Given the description of an element on the screen output the (x, y) to click on. 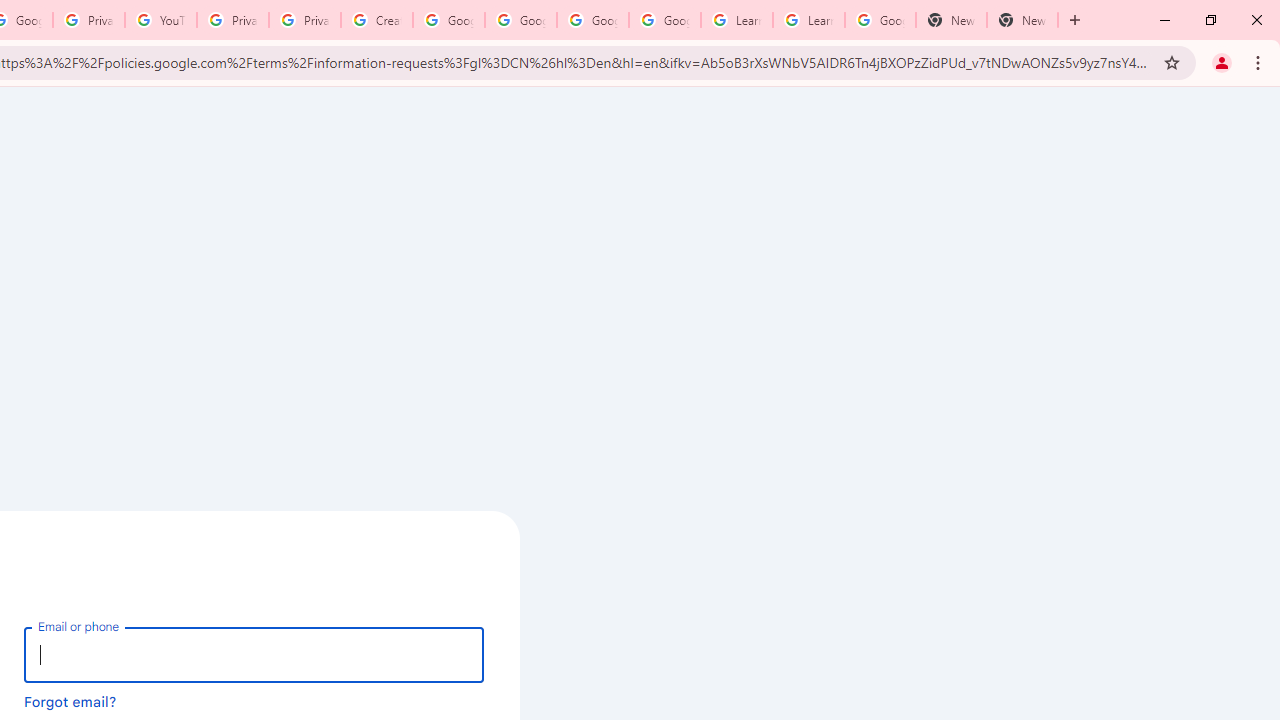
YouTube (161, 20)
New Tab (951, 20)
Email or phone (253, 654)
